Given the description of an element on the screen output the (x, y) to click on. 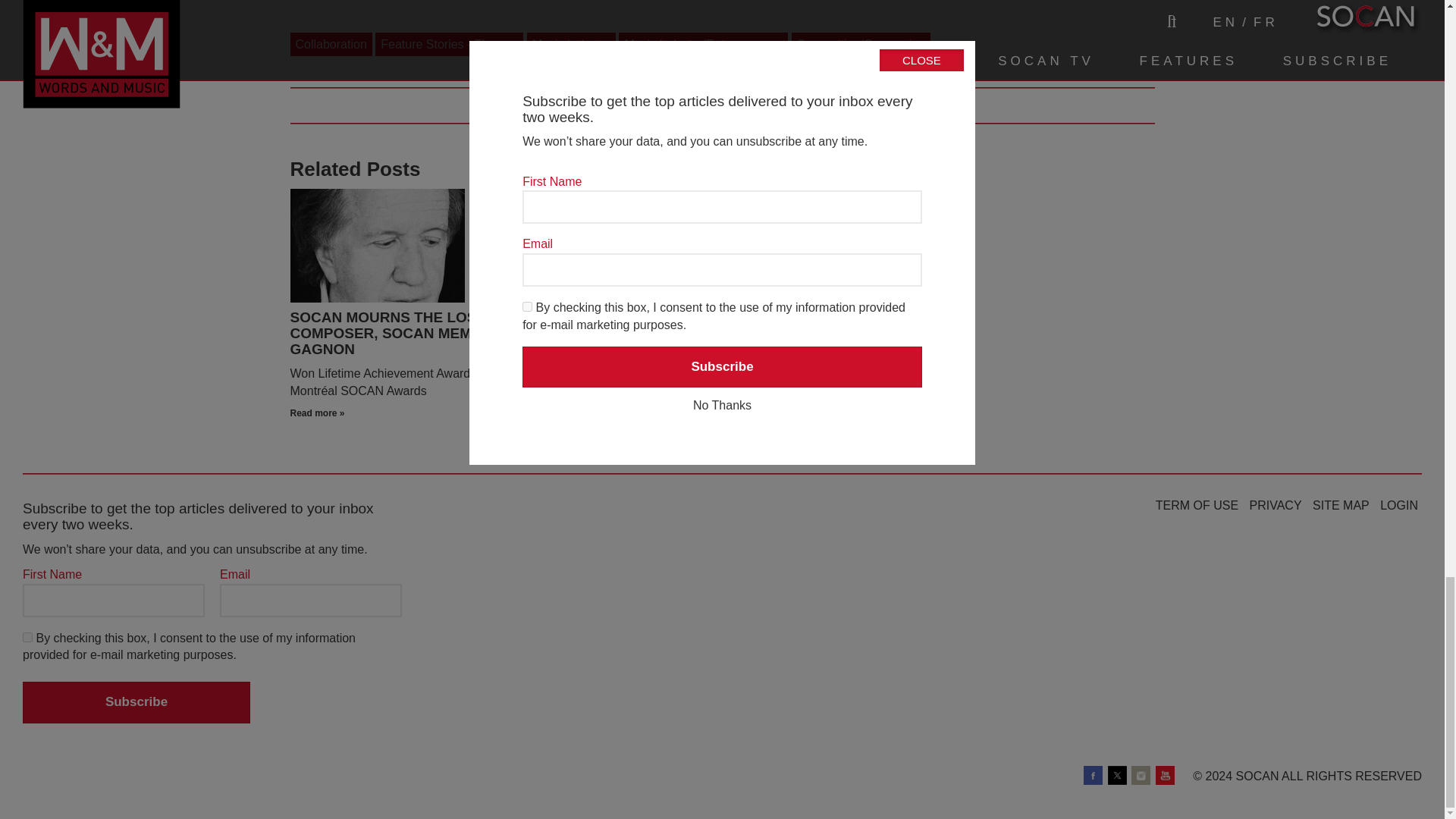
1 (27, 637)
